Given the description of an element on the screen output the (x, y) to click on. 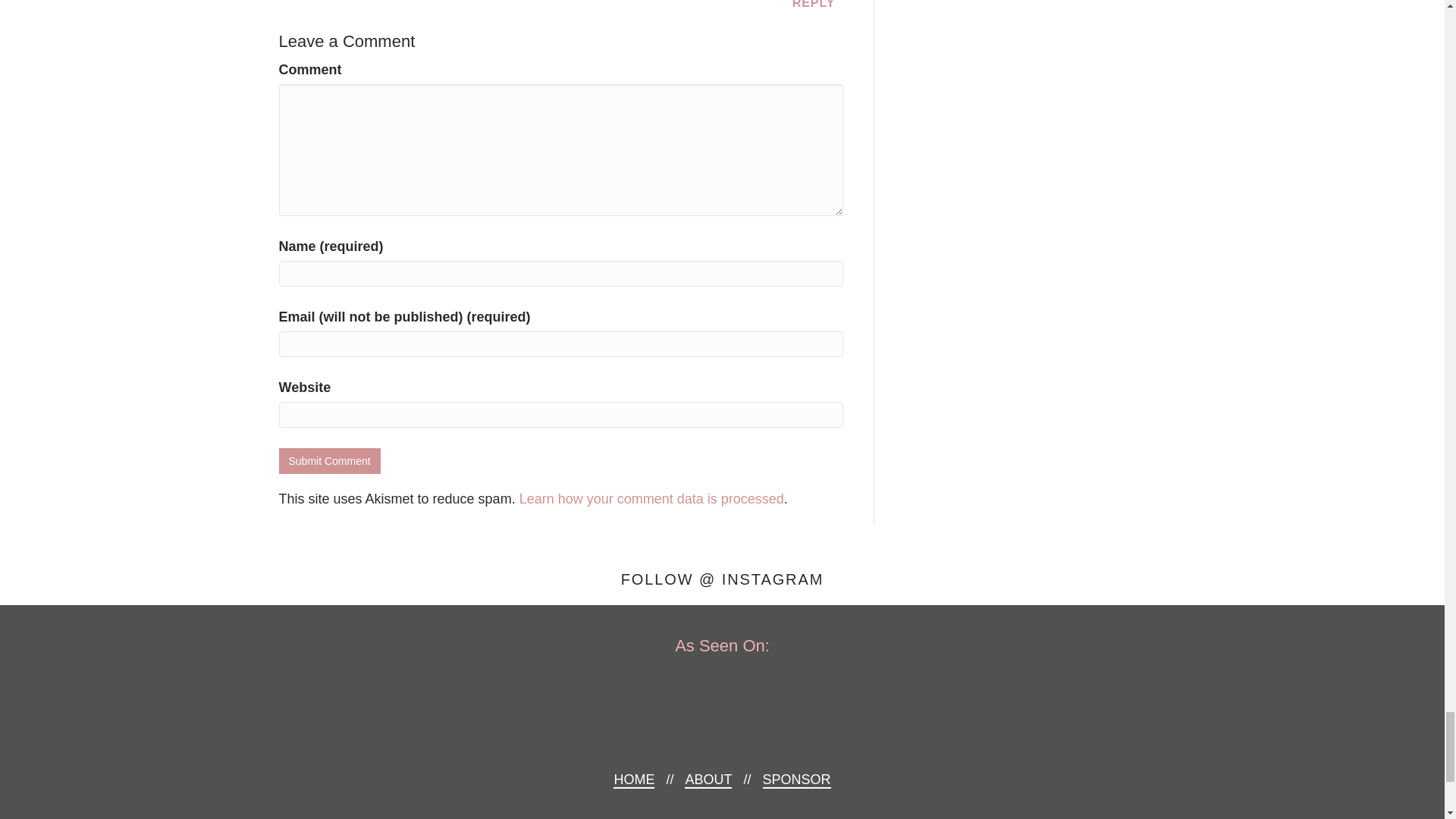
Submit Comment (329, 460)
